Given the description of an element on the screen output the (x, y) to click on. 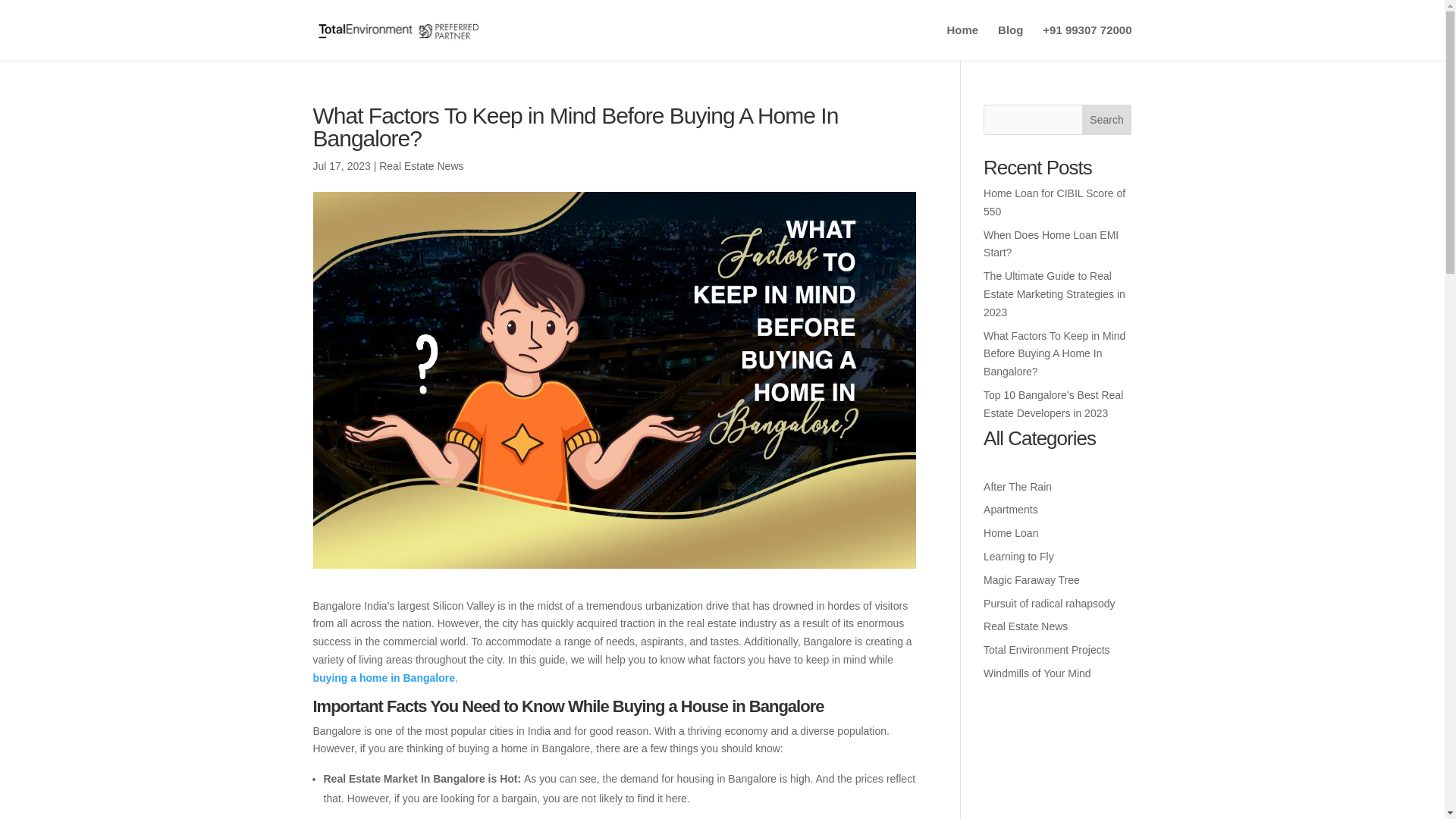
Total Environment Projects (1046, 649)
Magic Faraway Tree (1032, 580)
Real Estate News (1025, 625)
Pursuit of radical rahapsody (1049, 603)
Windmills of Your Mind (1037, 673)
Home (962, 42)
Home Loan (1011, 532)
Search (1106, 119)
Learning to Fly (1019, 556)
